Given the description of an element on the screen output the (x, y) to click on. 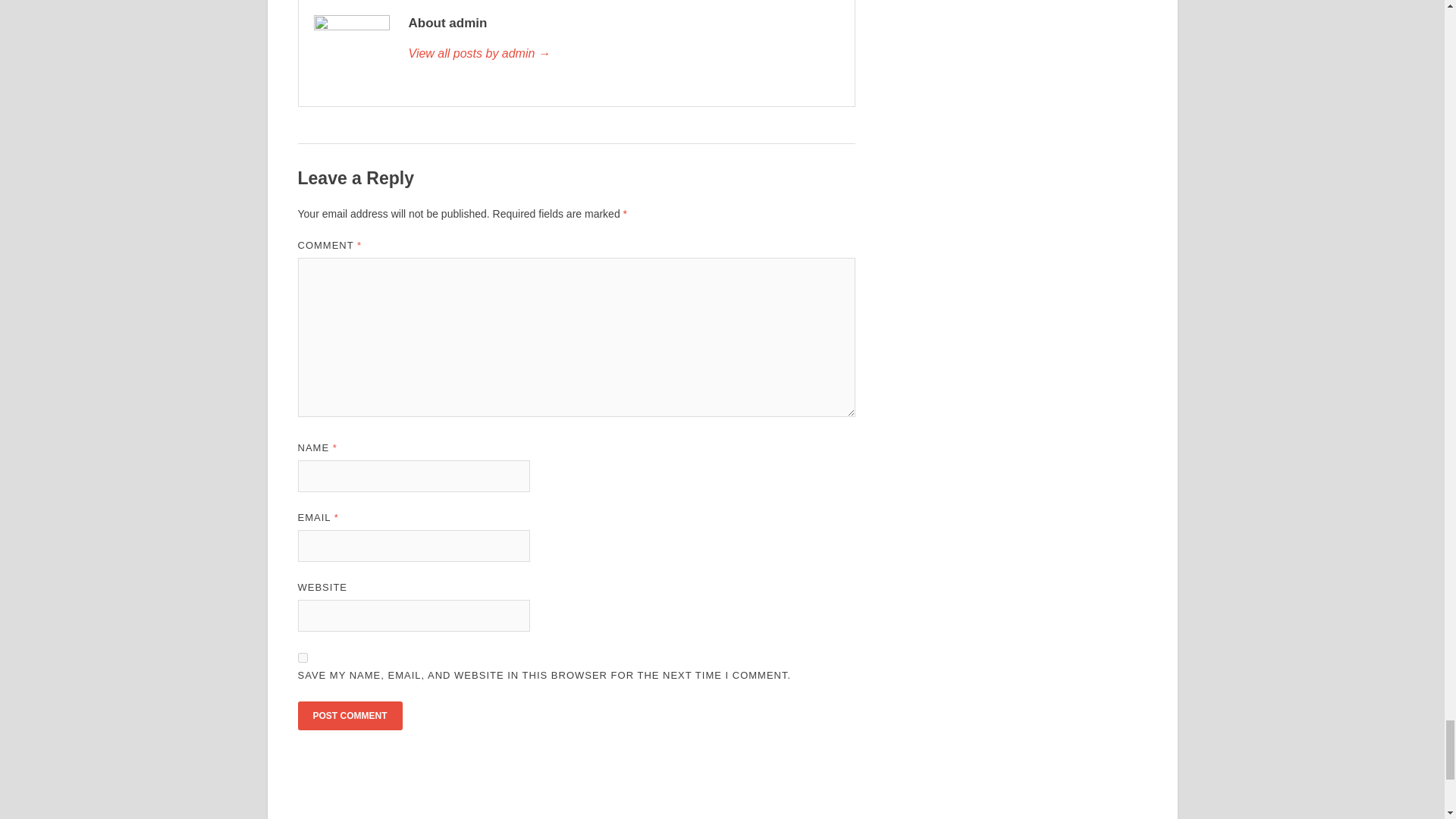
admin (622, 54)
yes (302, 657)
Post Comment (349, 715)
